Given the description of an element on the screen output the (x, y) to click on. 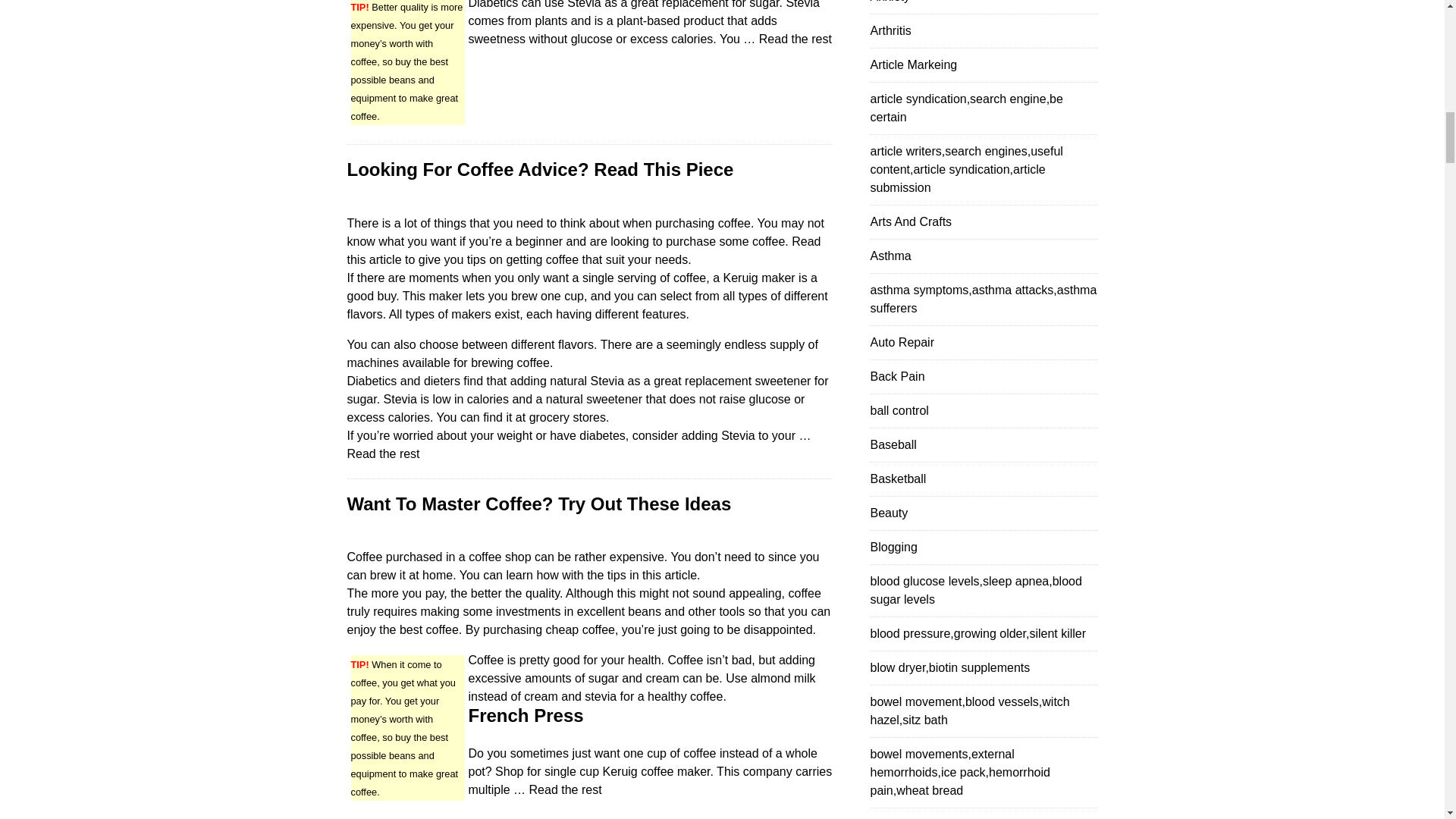
Want To Master Coffee? Try Out These Ideas (539, 503)
Read the rest (565, 789)
Looking For Coffee Advice? Read This Piece (540, 168)
Read the rest (794, 38)
Read the rest (383, 453)
